Given the description of an element on the screen output the (x, y) to click on. 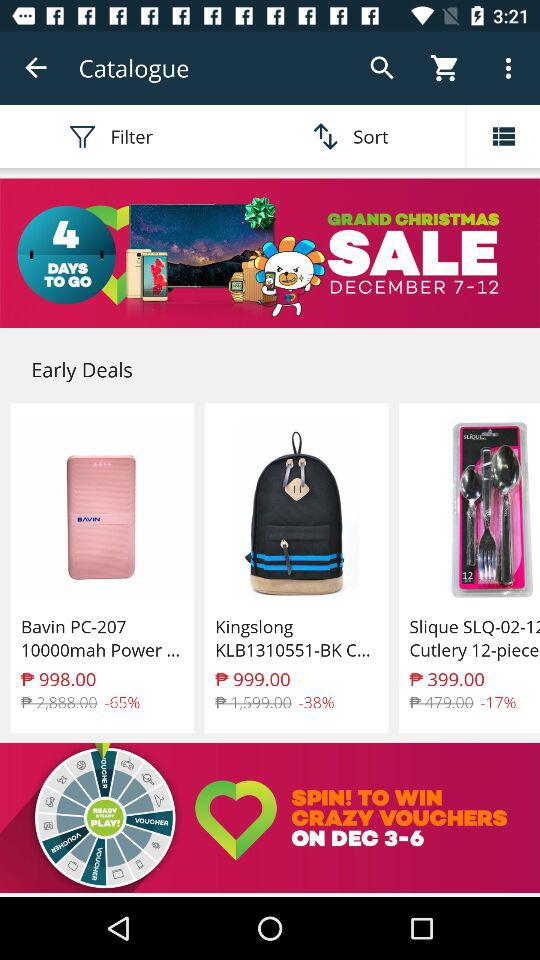
tap the app to the left of the catalogue (36, 68)
